Given the description of an element on the screen output the (x, y) to click on. 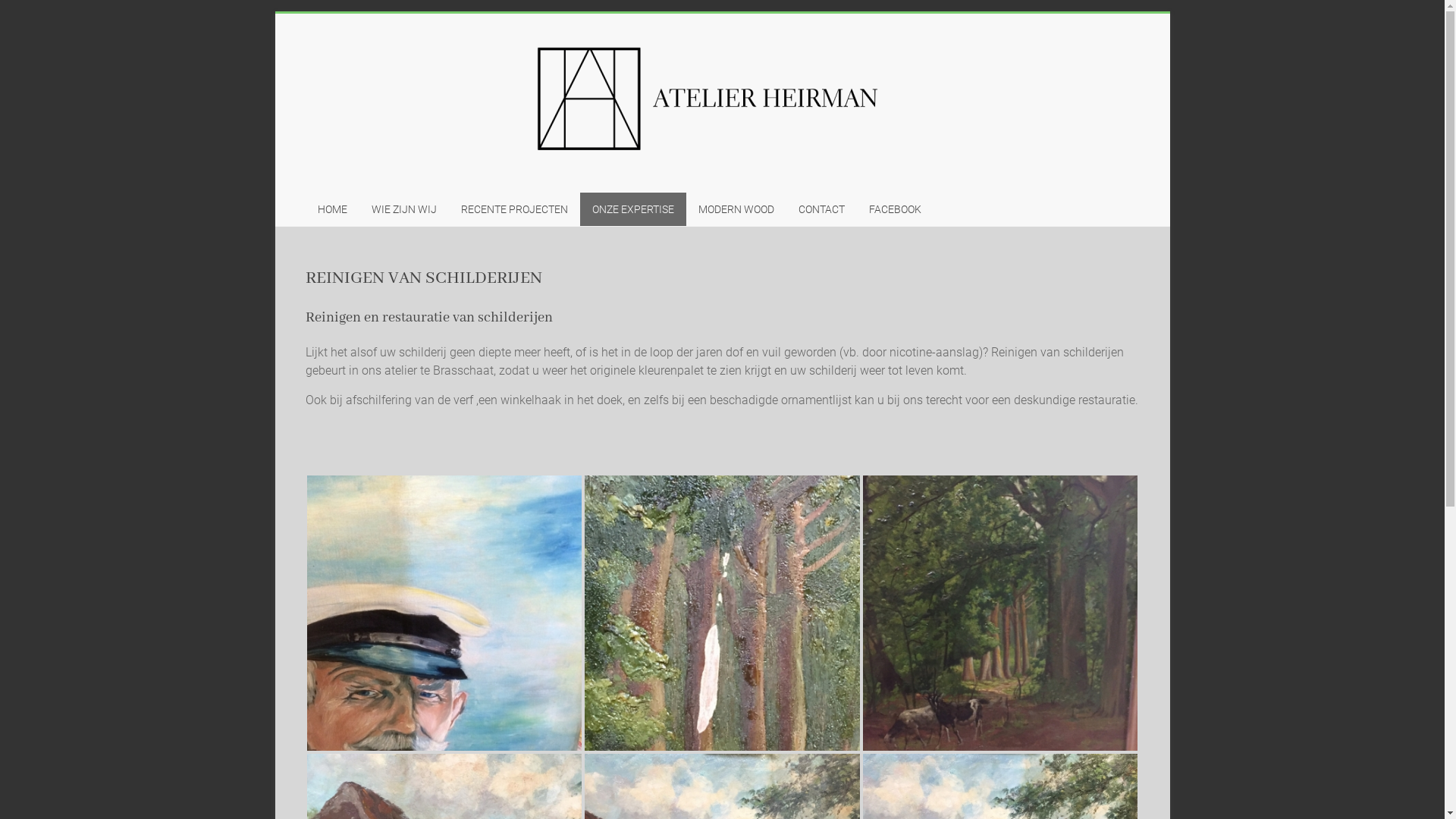
gerestaureerde versie van de schilderij Element type: hover (1000, 612)
schade voor de restauratie van de schilderij Element type: hover (721, 612)
FACEBOOK Element type: text (894, 208)
HOME Element type: text (331, 208)
RECENTE PROJECTEN Element type: text (514, 208)
Atelier Heirman Element type: text (354, 196)
reinigen van de schilderij Element type: hover (443, 612)
MODERN WOOD Element type: text (735, 208)
CONTACT Element type: text (820, 208)
WIE ZIJN WIJ Element type: text (403, 208)
ONZE EXPERTISE Element type: text (632, 208)
Ga naar inhoud Element type: text (274, 12)
